Given the description of an element on the screen output the (x, y) to click on. 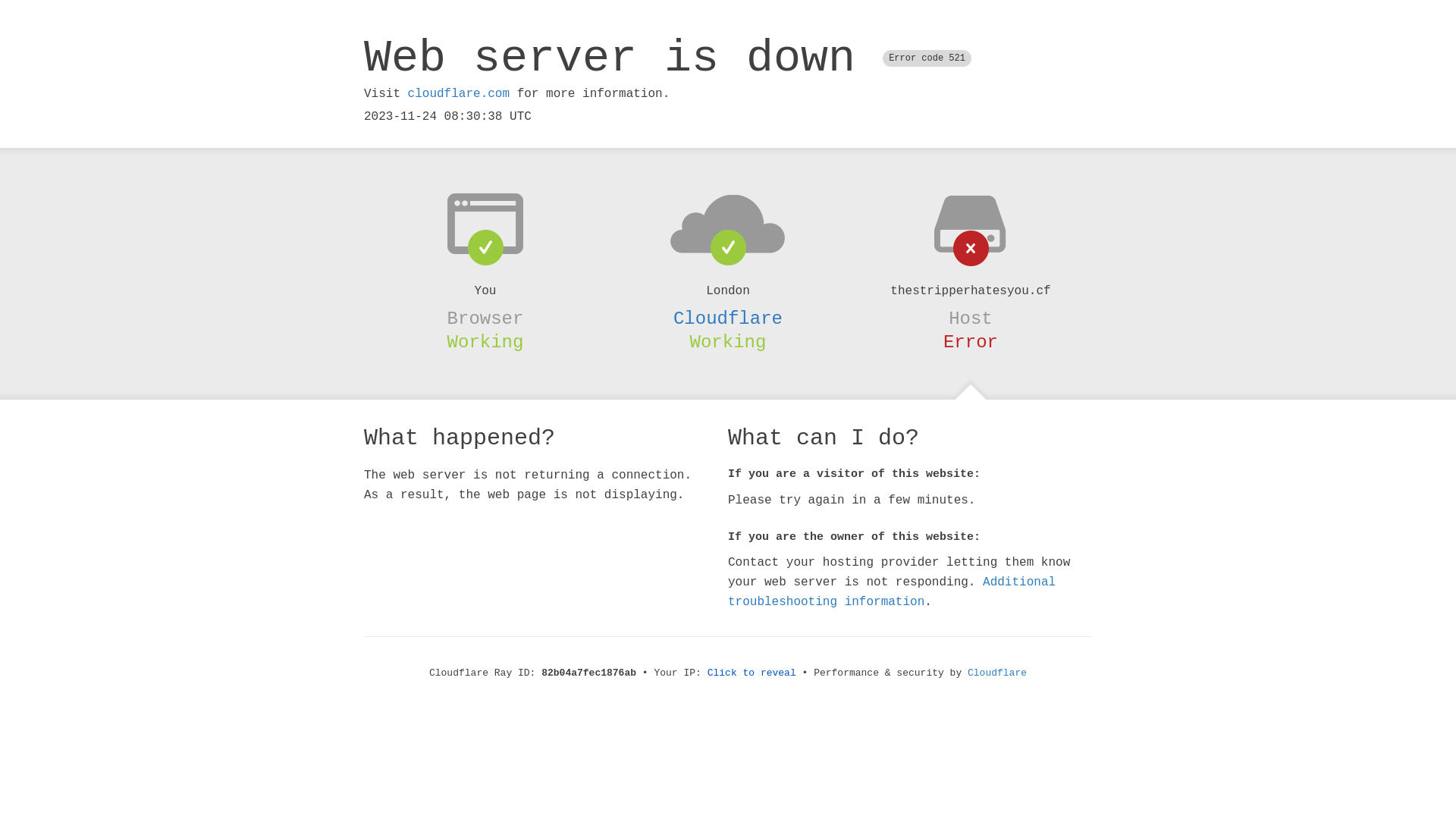
Click to reveal Element type: text (751, 672)
Cloudflare Element type: text (727, 318)
cloudflare.com Element type: text (458, 93)
Additional troubleshooting information Element type: text (891, 591)
Cloudflare Element type: text (996, 672)
